Given the description of an element on the screen output the (x, y) to click on. 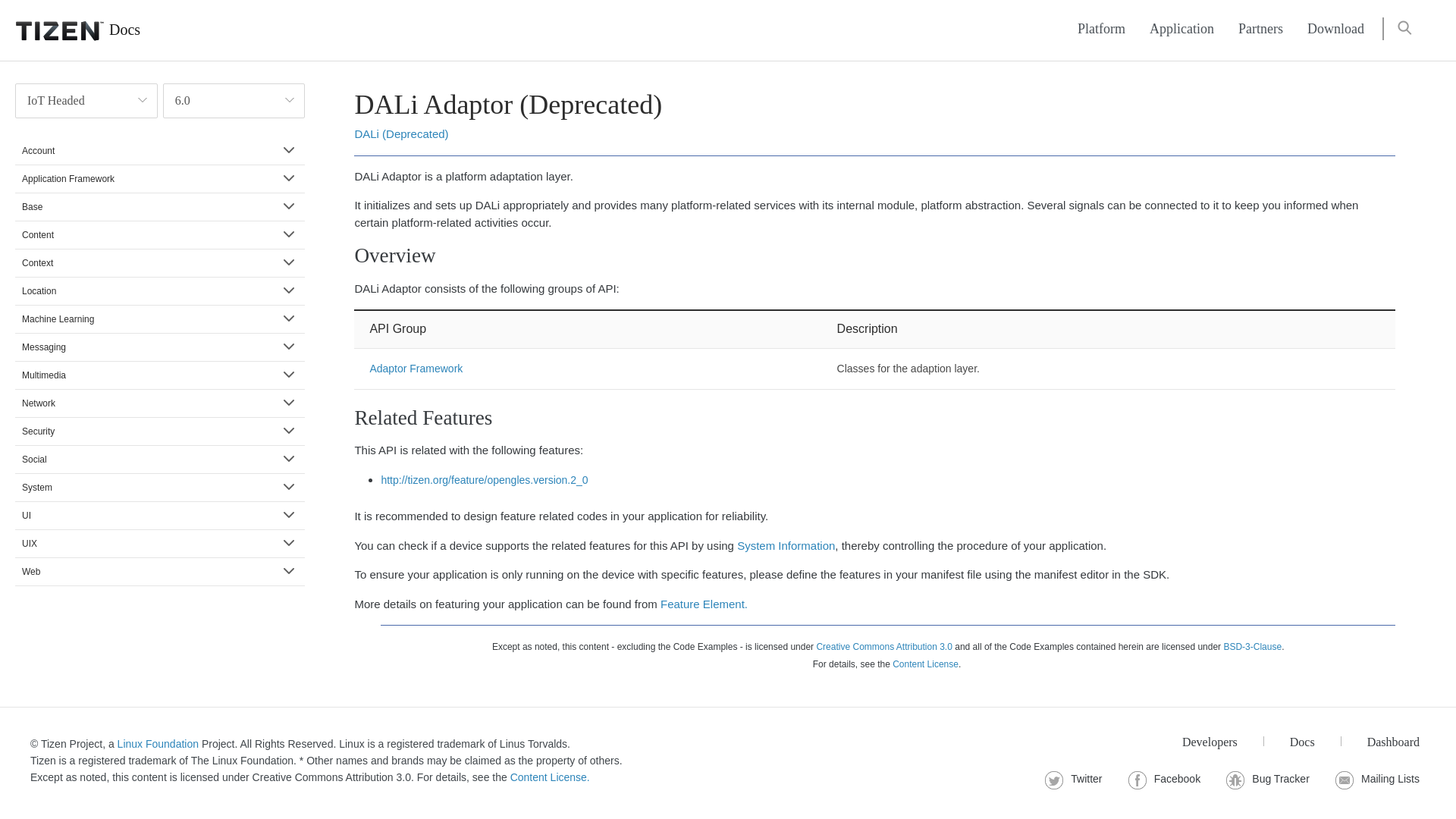
Docs (69, 30)
Partners (1260, 29)
Download (1335, 29)
Platform (1101, 29)
Application (1181, 29)
